Given the description of an element on the screen output the (x, y) to click on. 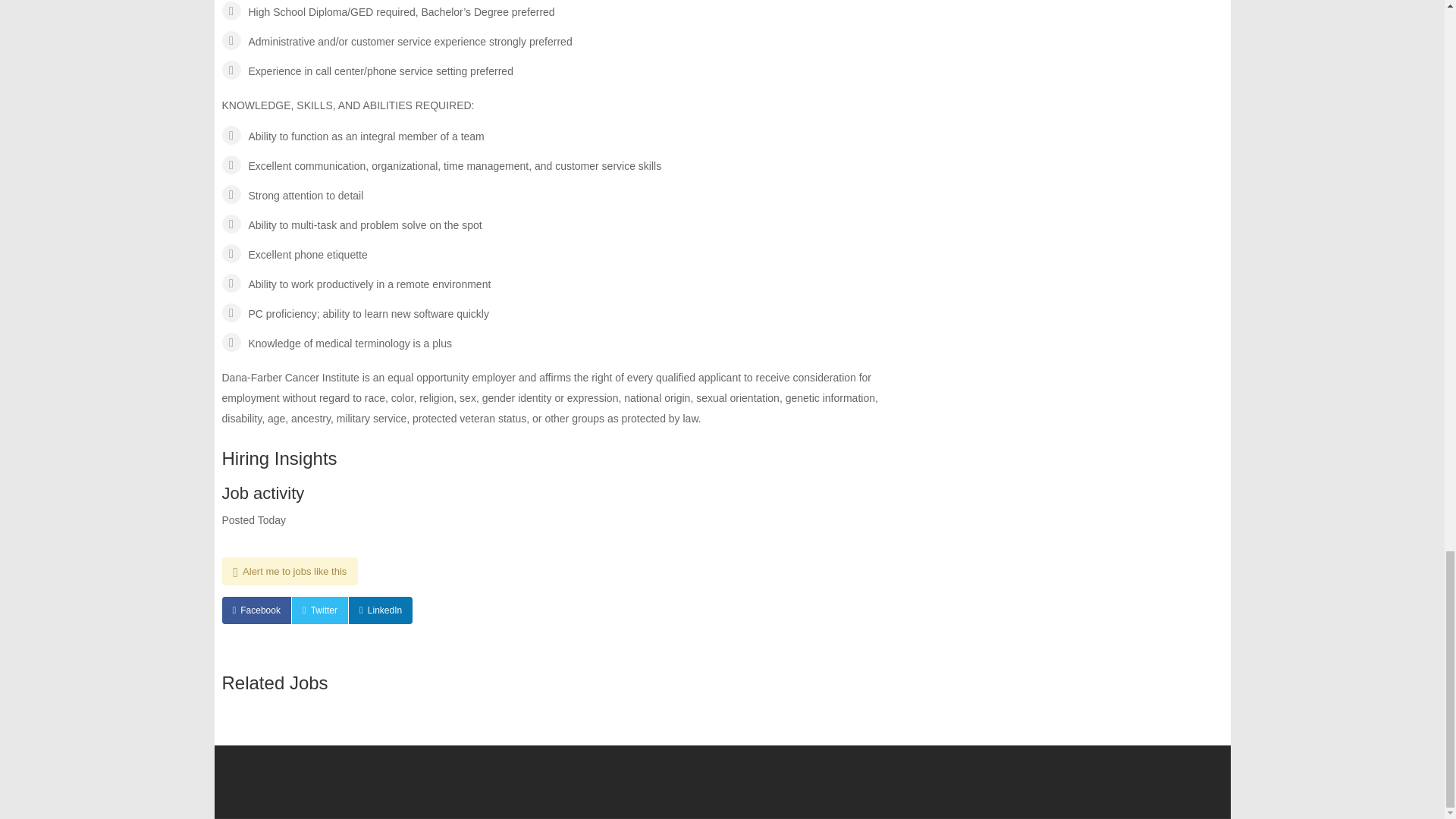
Twitter (319, 610)
Twitter (319, 610)
Alert me to jobs like this (289, 571)
Facebook (255, 610)
LinkedIn (380, 610)
